Given the description of an element on the screen output the (x, y) to click on. 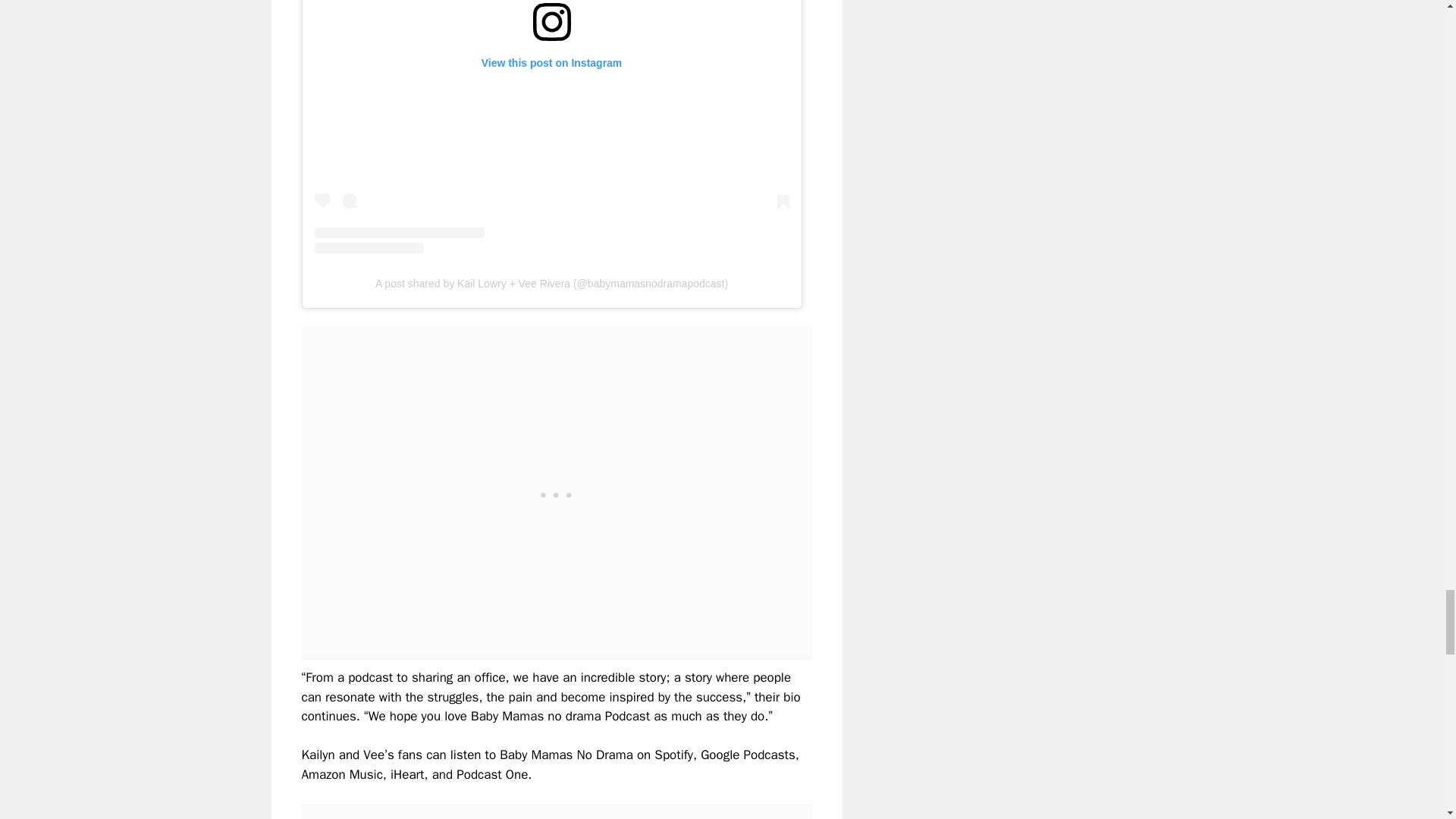
View this post on Instagram (551, 126)
